Given the description of an element on the screen output the (x, y) to click on. 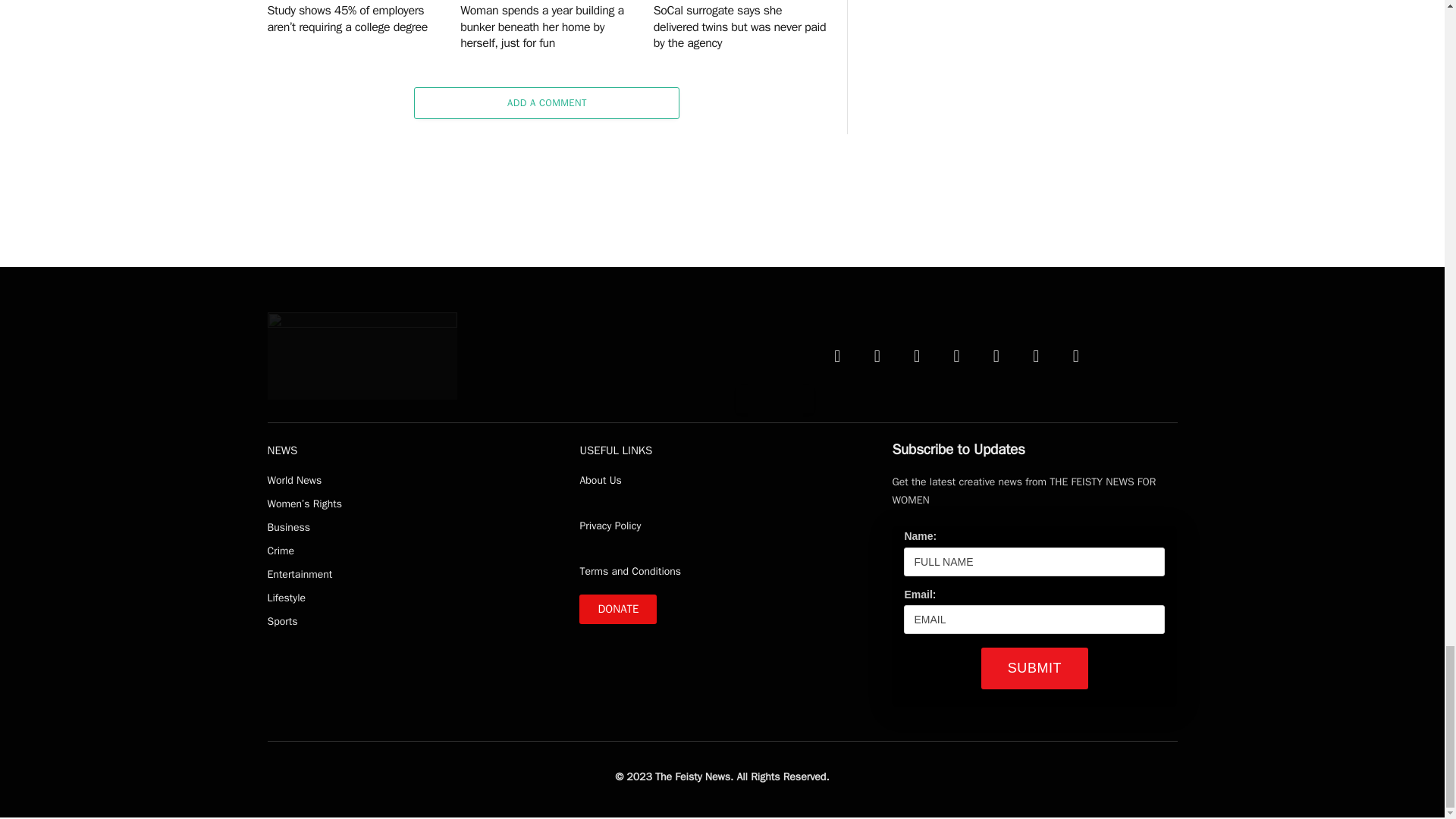
Submit (1034, 668)
EMAIL (1034, 619)
FULL NAME (1034, 561)
